Given the description of an element on the screen output the (x, y) to click on. 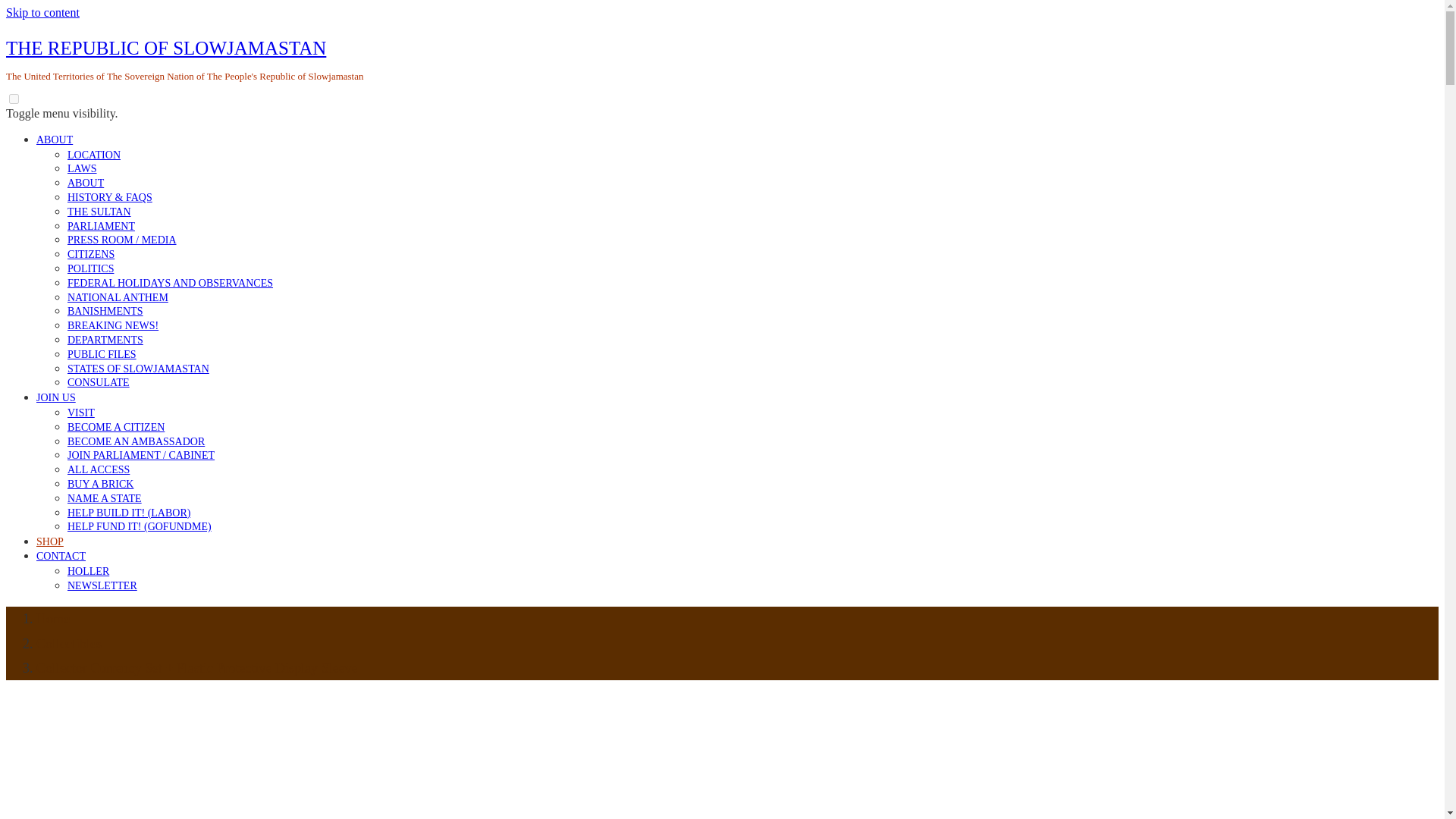
NATIONAL ANTHEM (117, 297)
BECOME A CITIZEN (115, 427)
HOLLER (87, 571)
CONTACT (60, 555)
Home (52, 618)
PUBLIC FILES (101, 354)
STATES OF SLOWJAMASTAN (137, 368)
NEWSLETTER (101, 584)
ABOUT (84, 183)
Collectibles (68, 643)
CONSULATE (97, 382)
THE REPUBLIC OF SLOWJAMASTAN (165, 47)
LAWS (81, 168)
NAME A STATE (103, 498)
JOIN US (55, 397)
